Given the description of an element on the screen output the (x, y) to click on. 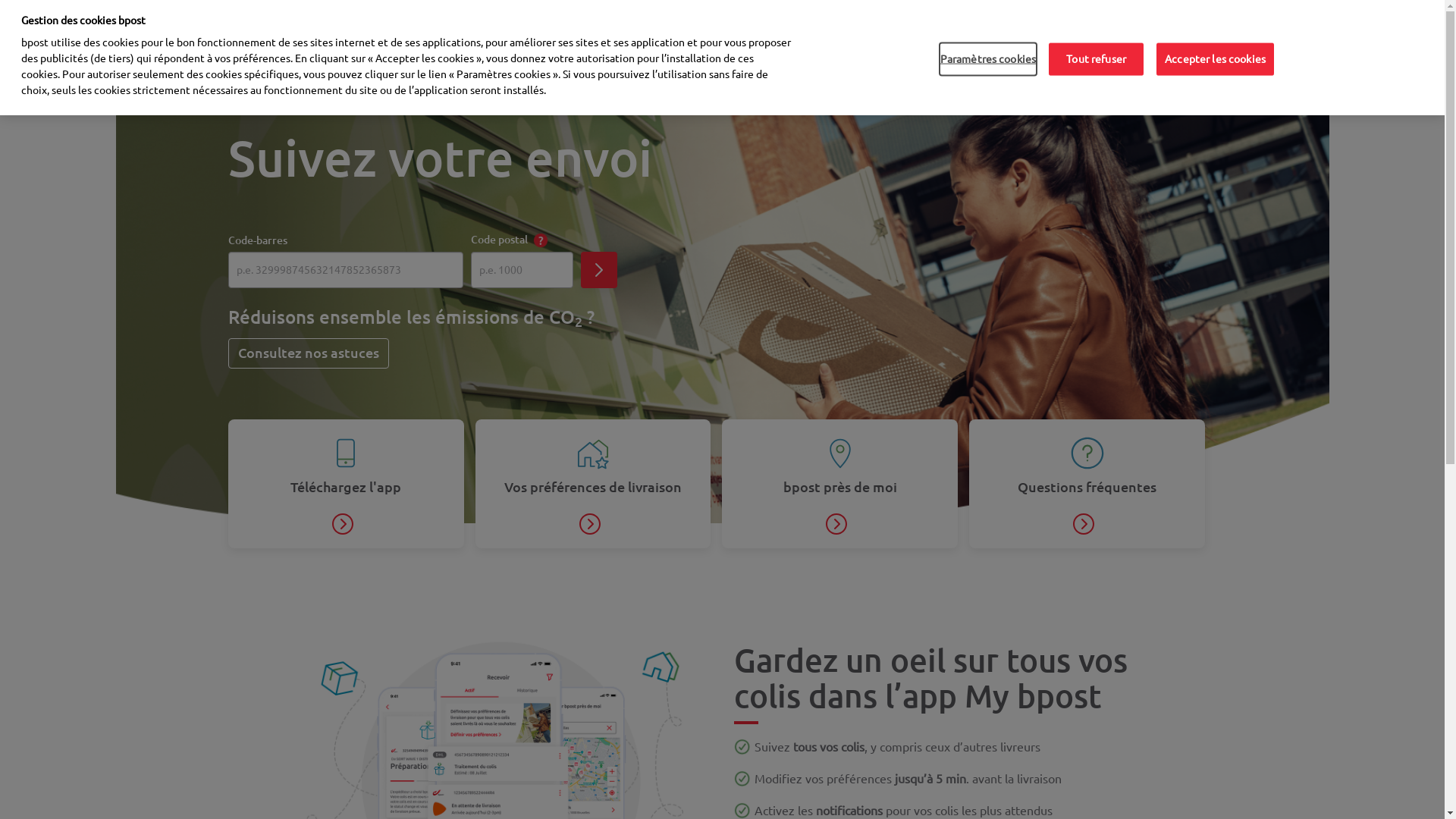
Tout refuser Element type: text (1095, 59)
Consultez nos astuces Element type: text (308, 353)
Accepter les cookies Element type: text (1215, 59)
